Given the description of an element on the screen output the (x, y) to click on. 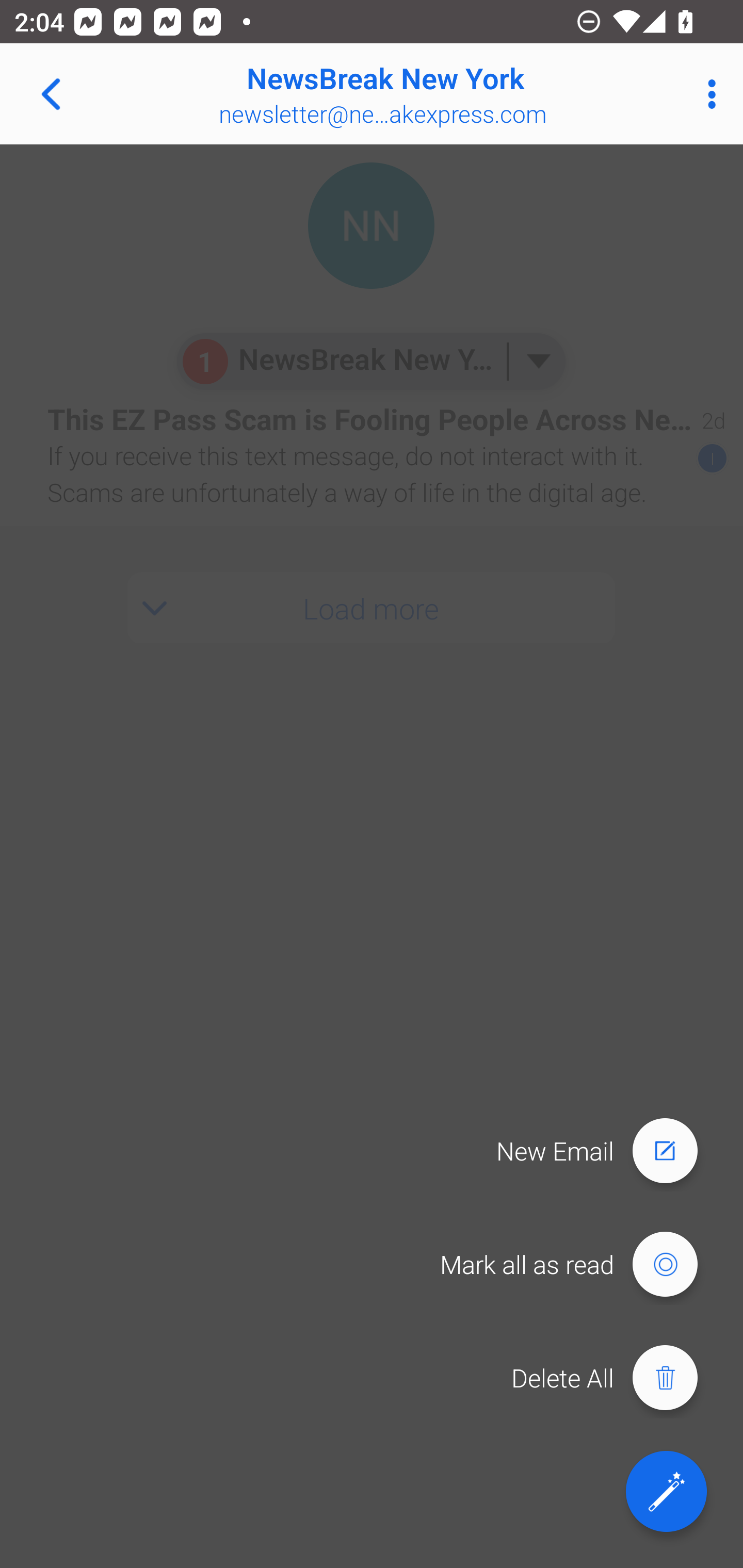
Navigate up (50, 93)
NewsBreak New York newsletter@newsbreakexpress.com (436, 93)
More Options (706, 93)
New Email (606, 1150)
Mark all as read (577, 1264)
Delete All (613, 1378)
